Given the description of an element on the screen output the (x, y) to click on. 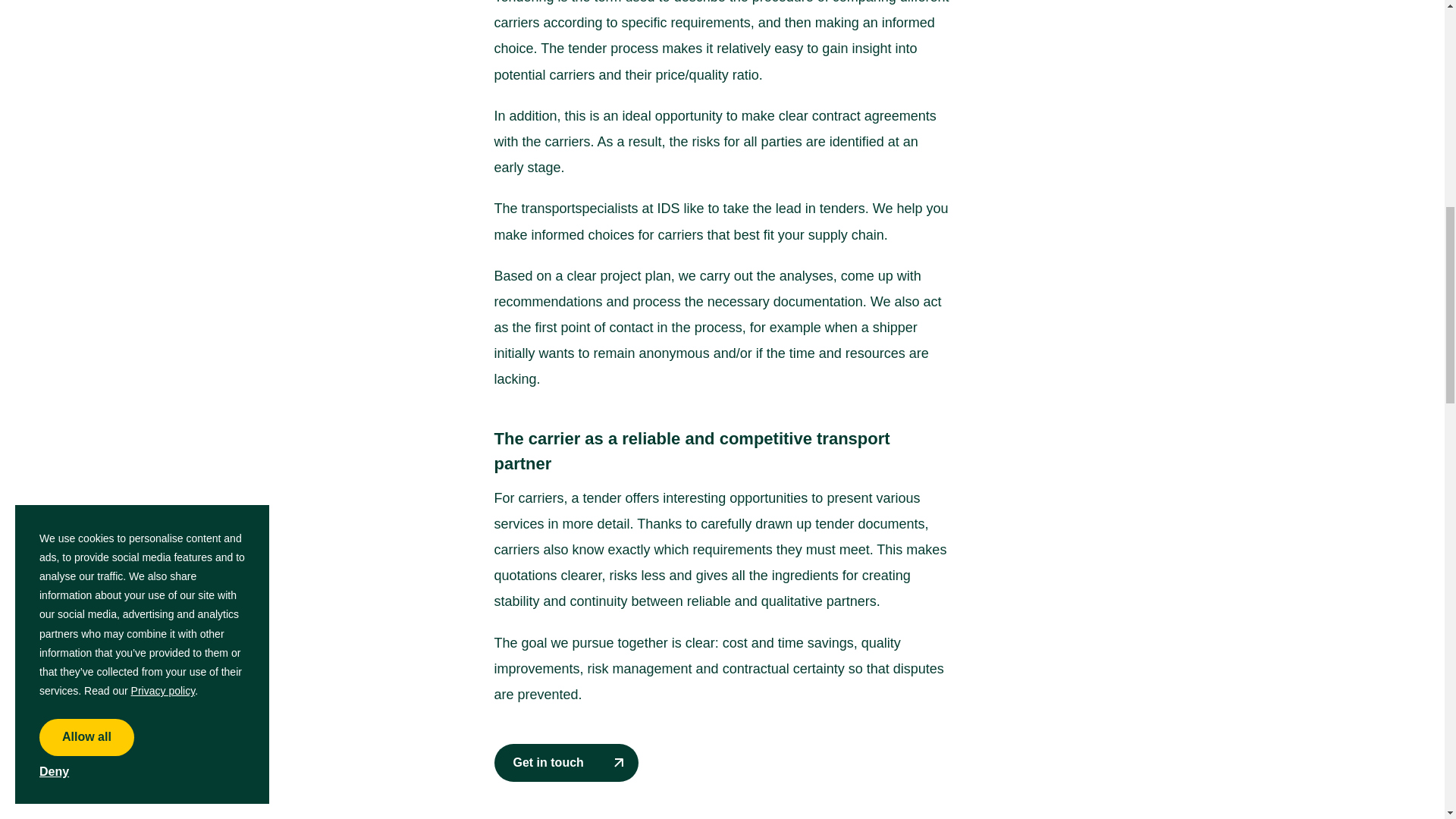
Get in touch (567, 762)
